Given the description of an element on the screen output the (x, y) to click on. 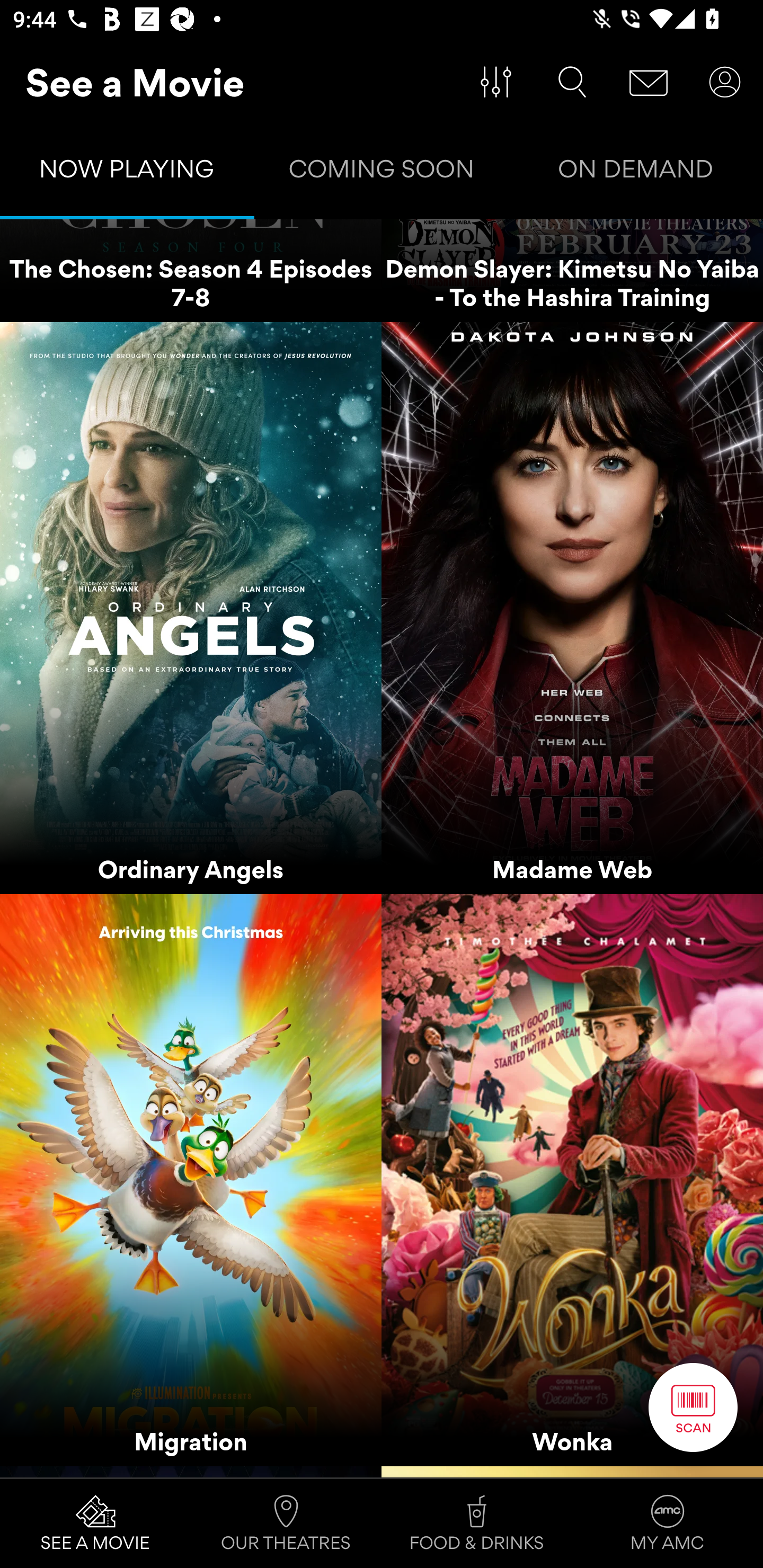
Filter Movies (495, 82)
Search (572, 82)
Message Center (648, 82)
User Account (724, 82)
NOW PLAYING
Tab 1 of 3 (127, 173)
COMING SOON
Tab 2 of 3 (381, 173)
ON DEMAND
Tab 3 of 3 (635, 173)
The Chosen: Season 4 Episodes 7-8 (190, 270)
Ordinary Angels (190, 607)
Madame Web (572, 607)
Migration (190, 1179)
Wonka (572, 1179)
Scan Button (692, 1406)
SEE A MOVIE
Tab 1 of 4 (95, 1523)
OUR THEATRES
Tab 2 of 4 (285, 1523)
FOOD & DRINKS
Tab 3 of 4 (476, 1523)
MY AMC
Tab 4 of 4 (667, 1523)
